Given the description of an element on the screen output the (x, y) to click on. 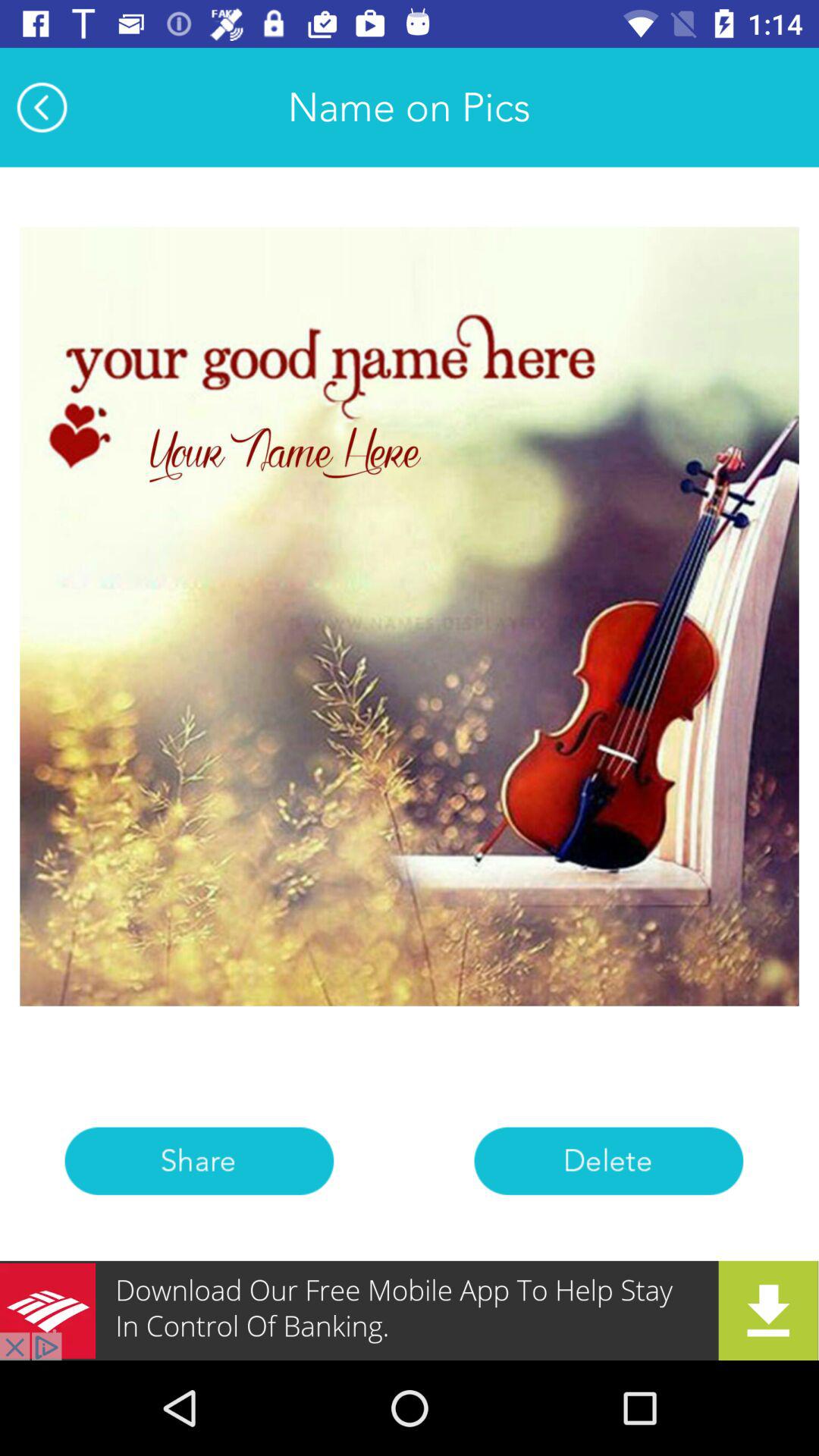
this option is dowlnload link of the mobil app (409, 1310)
